Given the description of an element on the screen output the (x, y) to click on. 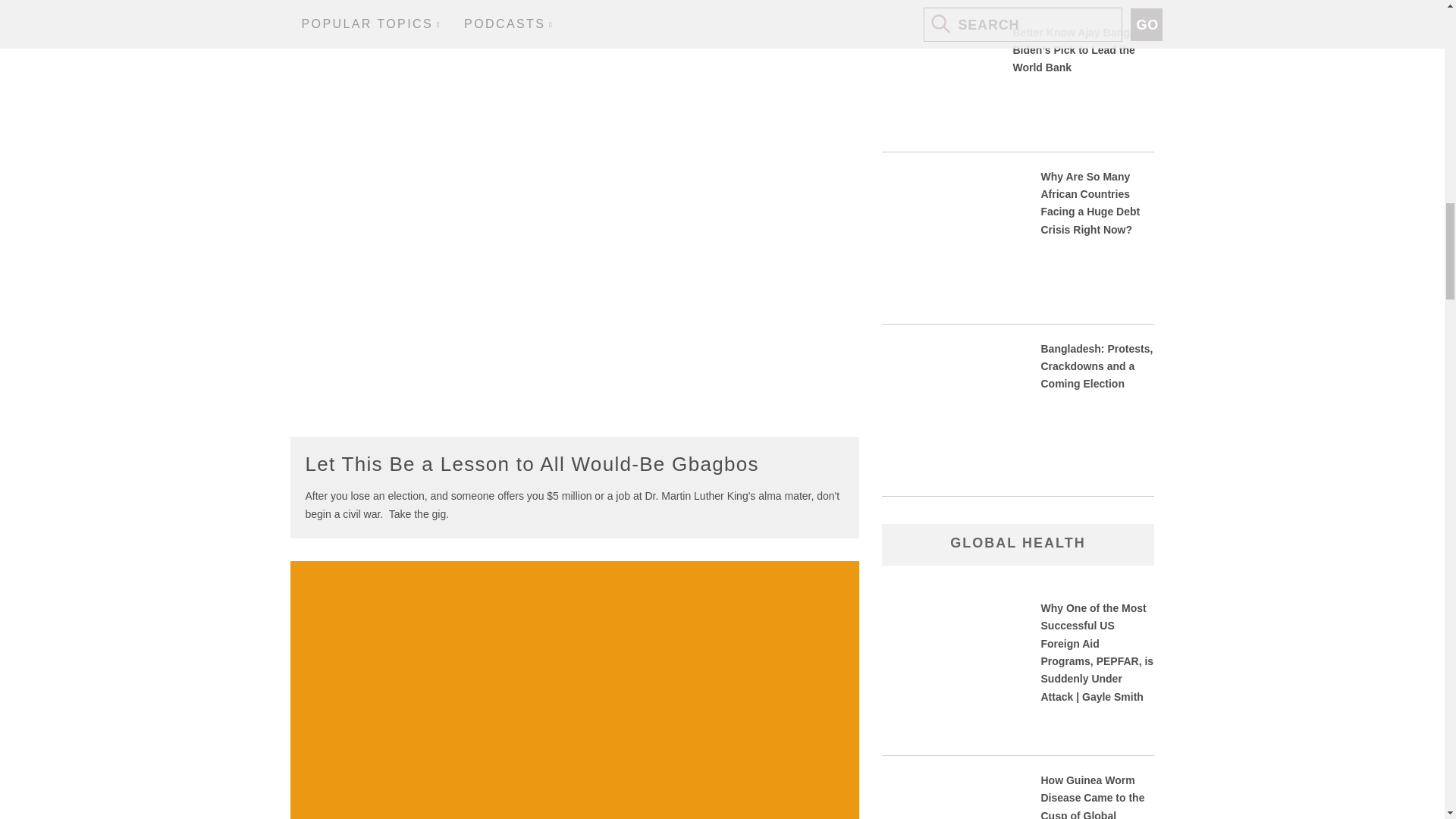
Let This Be a Lesson to All Would-Be Gbagbos (531, 463)
